Given the description of an element on the screen output the (x, y) to click on. 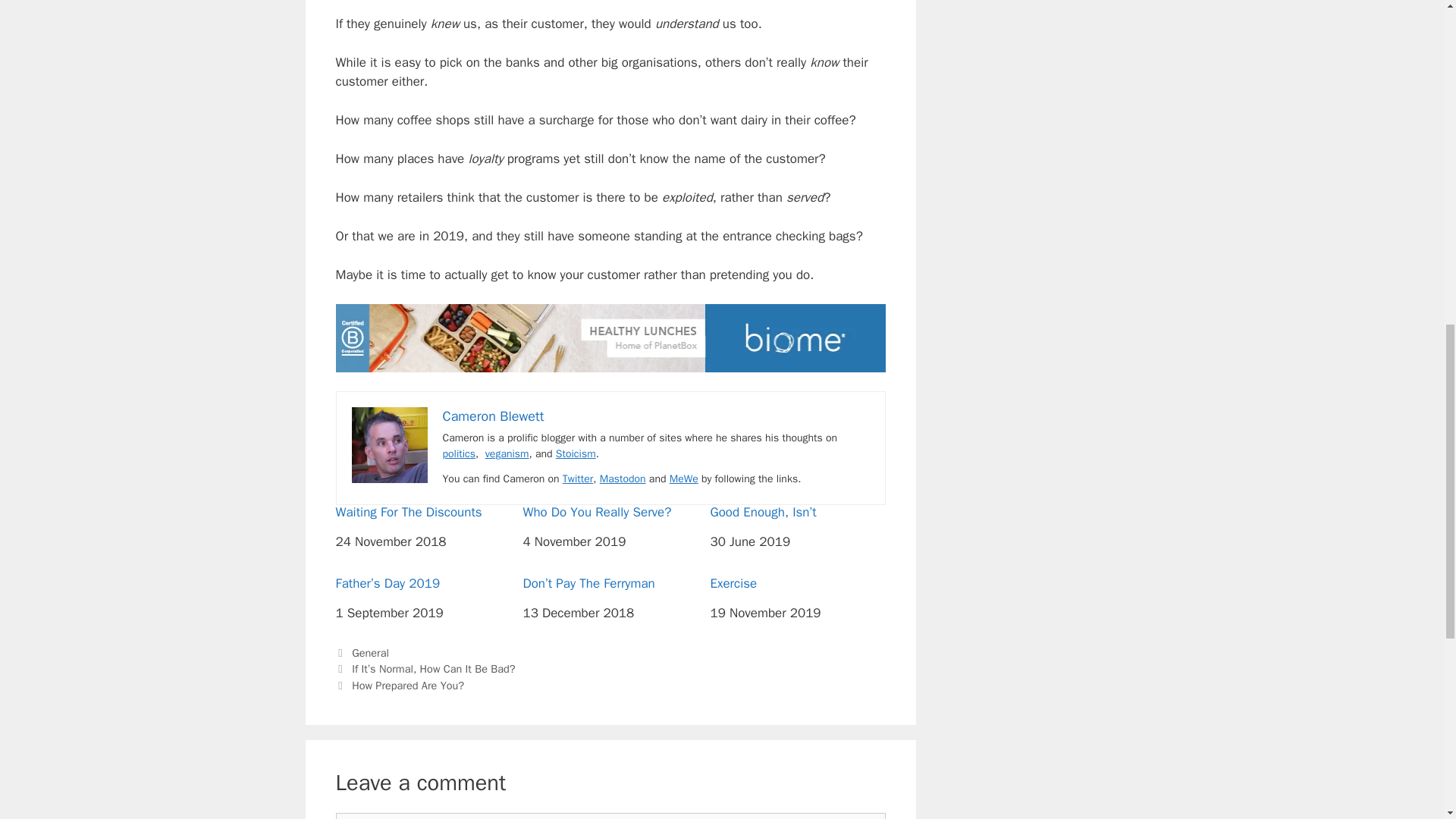
How Prepared Are You? (408, 685)
veganism (506, 453)
Exercise (797, 583)
Who Do You Really Serve? (609, 512)
MeWe (683, 478)
Stoicism (575, 453)
General (370, 653)
Mastodon (622, 478)
Twitter (578, 478)
Waiting For The Discounts (422, 512)
Cameron Blewett (493, 416)
politics (459, 453)
